Given the description of an element on the screen output the (x, y) to click on. 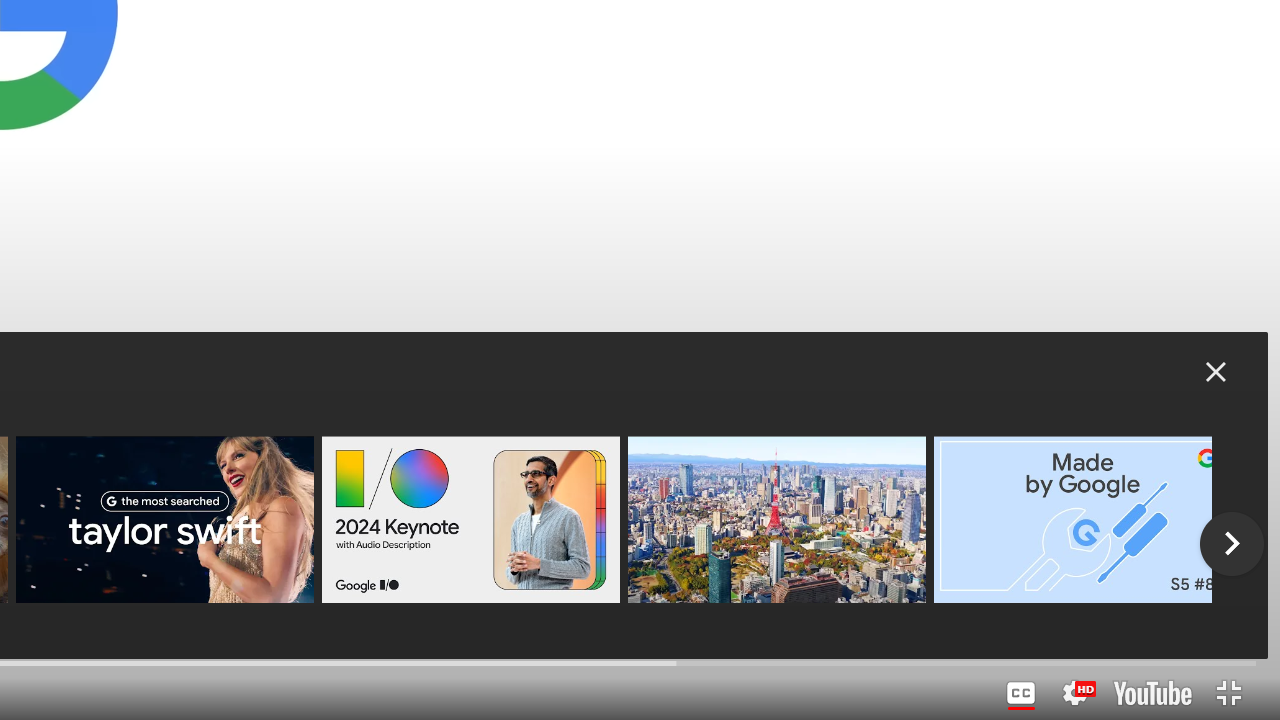
Watch on YouTube (1151, 693)
Subtitles/closed captions unavailable (1021, 693)
This is the new Google Earth (776, 519)
Show more suggested videos (1232, 543)
Hide more videos (1215, 371)
Made by Google Podcast S5E8 | Don't trash it, fix it! (1082, 519)
Exit full screen (f) (1228, 693)
Settings (1075, 693)
